Given the description of an element on the screen output the (x, y) to click on. 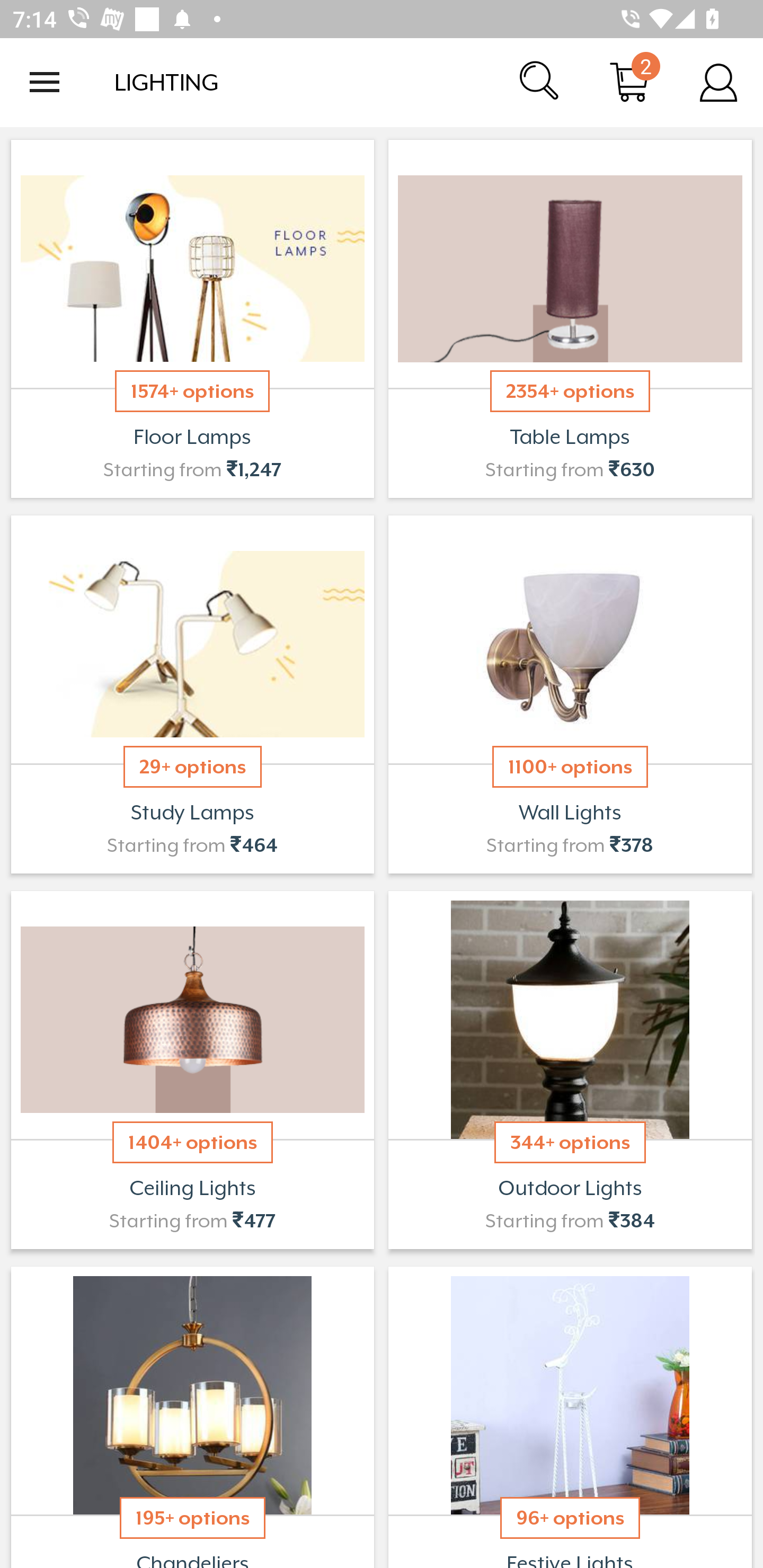
Open navigation drawer (44, 82)
Search (540, 81)
Cart (629, 81)
Account Details (718, 81)
1574+ options Floor Lamps Starting from  ₹1,247 (191, 318)
2354+ options Table Lamps Starting from  ₹630 (570, 318)
29+ options Study Lamps Starting from  ₹464 (191, 694)
1100+ options Wall Lights Starting from  ₹378 (570, 694)
1404+ options Ceiling Lights Starting from  ₹477 (191, 1069)
344+ options Outdoor Lights Starting from  ₹384 (570, 1069)
195+ options Chandeliers (191, 1415)
96+ options Festive Lights (570, 1415)
